Given the description of an element on the screen output the (x, y) to click on. 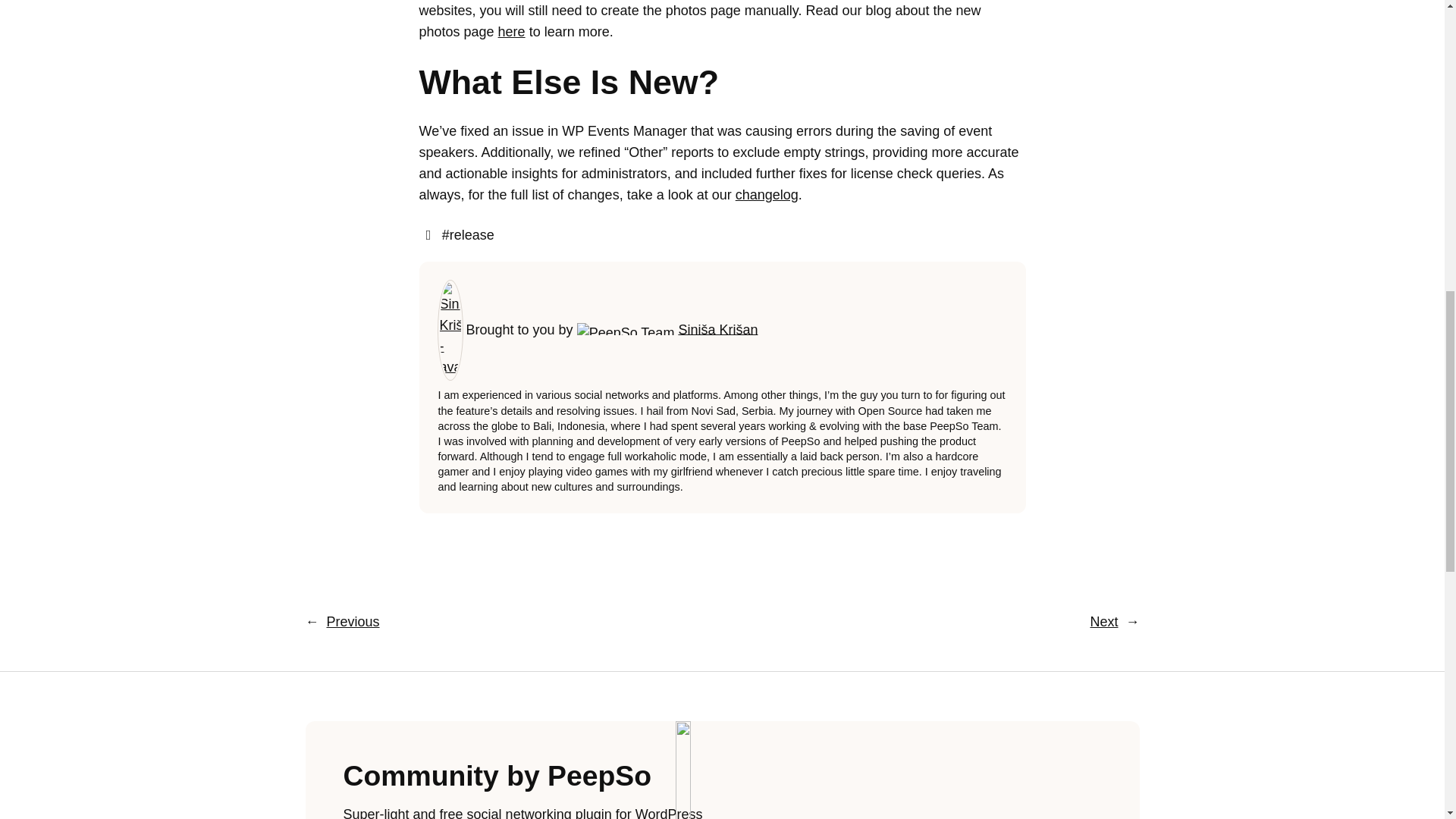
Next (1103, 621)
Changelog (766, 194)
here (511, 31)
changelog (766, 194)
Previous (352, 621)
PeepSo Team (625, 328)
